Given the description of an element on the screen output the (x, y) to click on. 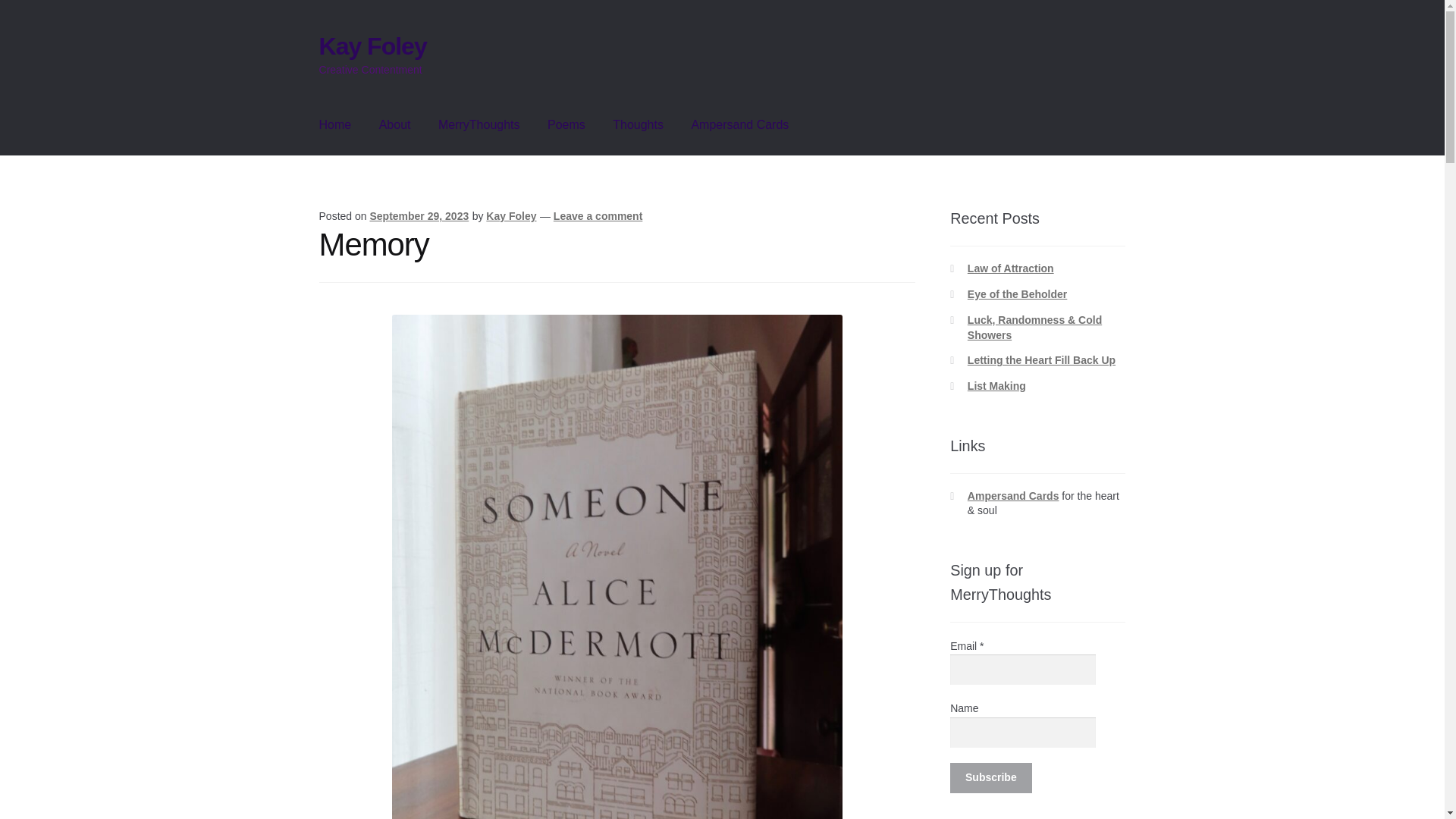
September 29, 2023 (418, 215)
Eye of the Beholder (1017, 294)
Law of Attraction (1011, 268)
Home (335, 124)
Leave a comment (598, 215)
About (394, 124)
Subscribe (990, 777)
Thoughts (637, 124)
Kay Foley (510, 215)
